Given the description of an element on the screen output the (x, y) to click on. 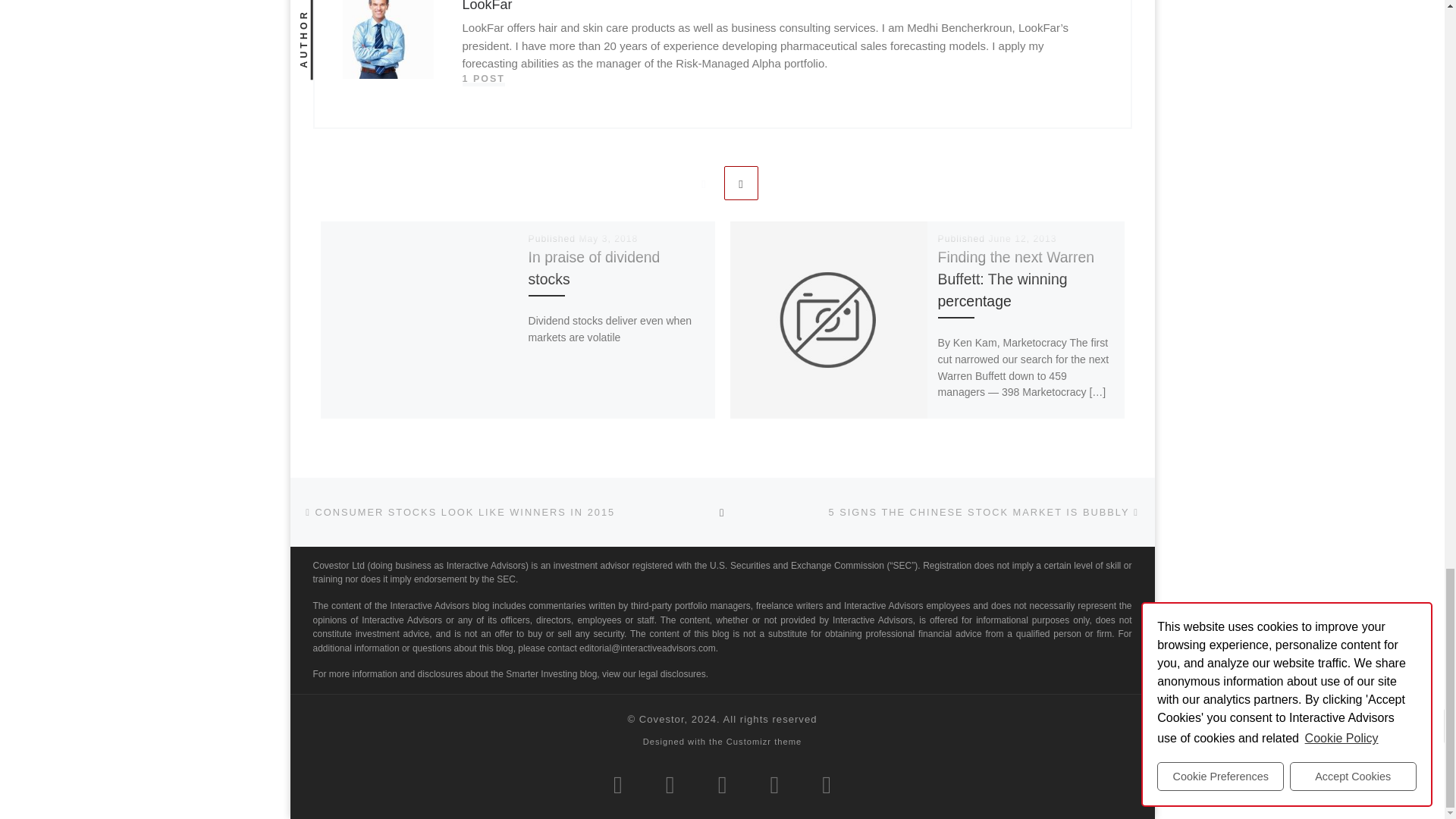
Customizr theme (764, 741)
May 3, 2018 (607, 238)
Next related articles (740, 182)
Smarter Investing (661, 718)
Previous related articles (702, 182)
In praise of dividend stocks (594, 267)
View all the posts of the author (484, 79)
Finding the next Warren Buffett: The winning percentage (1015, 278)
1 POST (484, 79)
June 12, 2013 (1022, 238)
